Given the description of an element on the screen output the (x, y) to click on. 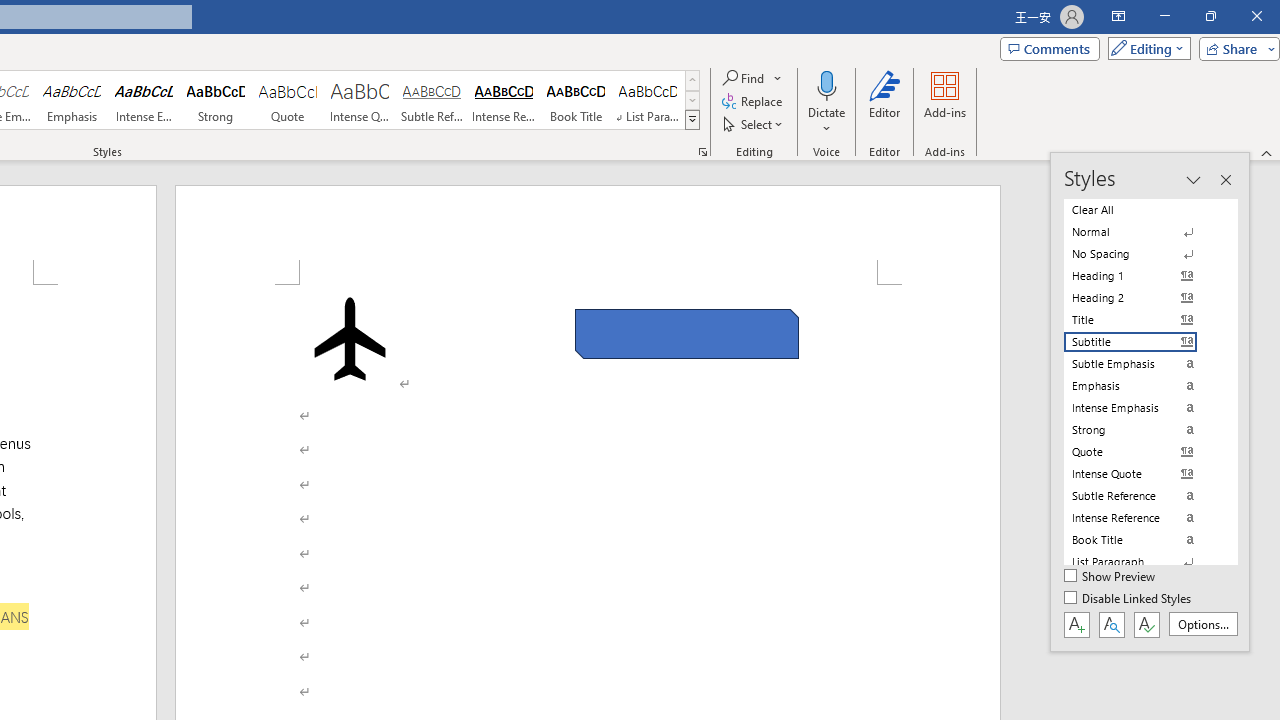
Heading 2 (1142, 297)
Styles (692, 120)
Class: MsoCommandBar (1149, 401)
Airplane with solid fill (349, 338)
